Given the description of an element on the screen output the (x, y) to click on. 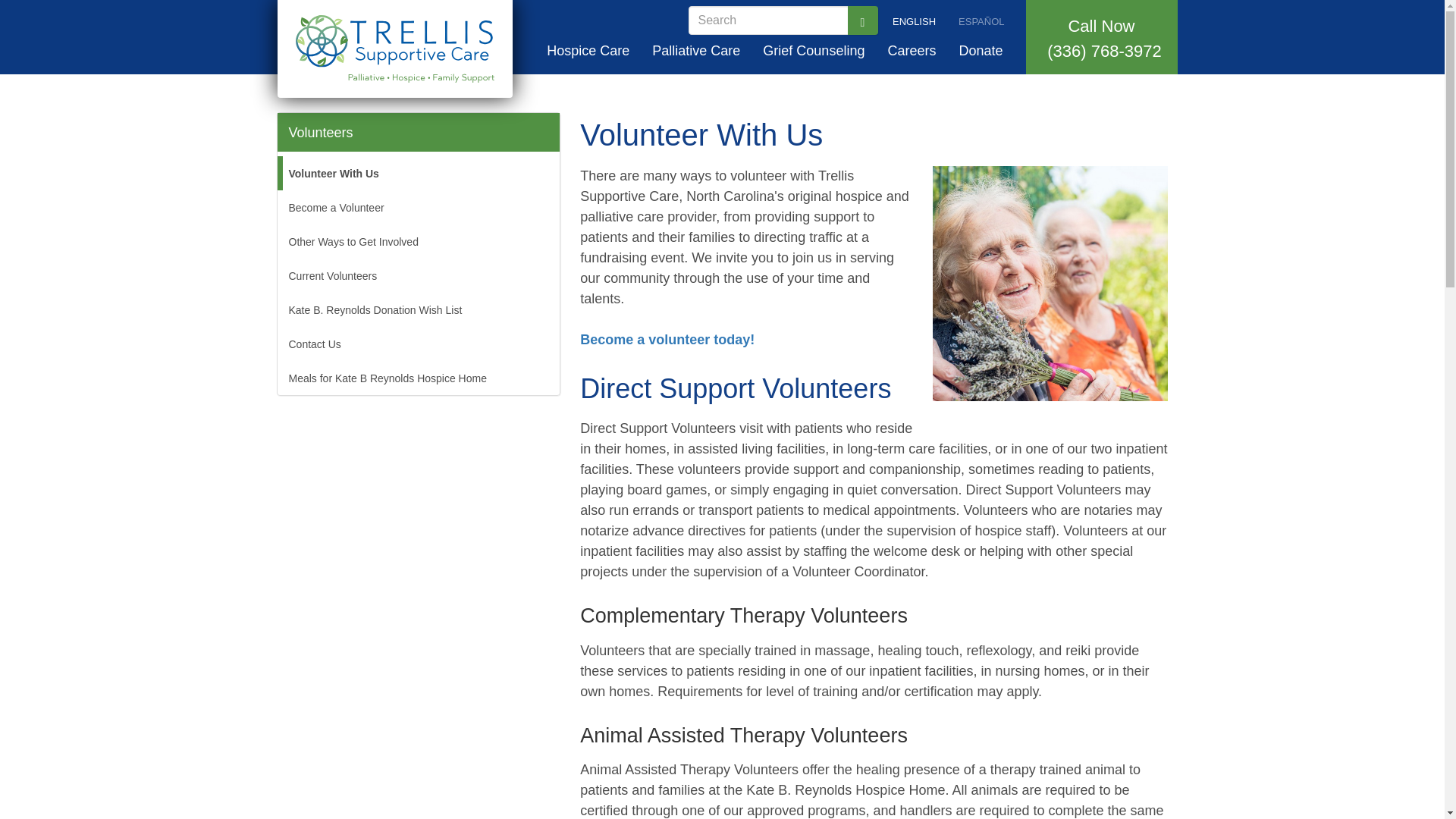
Grief Counseling (813, 49)
Palliative Care (695, 49)
Current Volunteers (419, 275)
Volunteer With Us (419, 173)
Become a Volunteer (419, 207)
Meals for Kate B Reynolds Hospice Home (419, 377)
Kate B. Reynolds Donation Wish List (419, 309)
Become a volunteer today! (666, 339)
Search (703, 40)
Current Openings (911, 49)
